Given the description of an element on the screen output the (x, y) to click on. 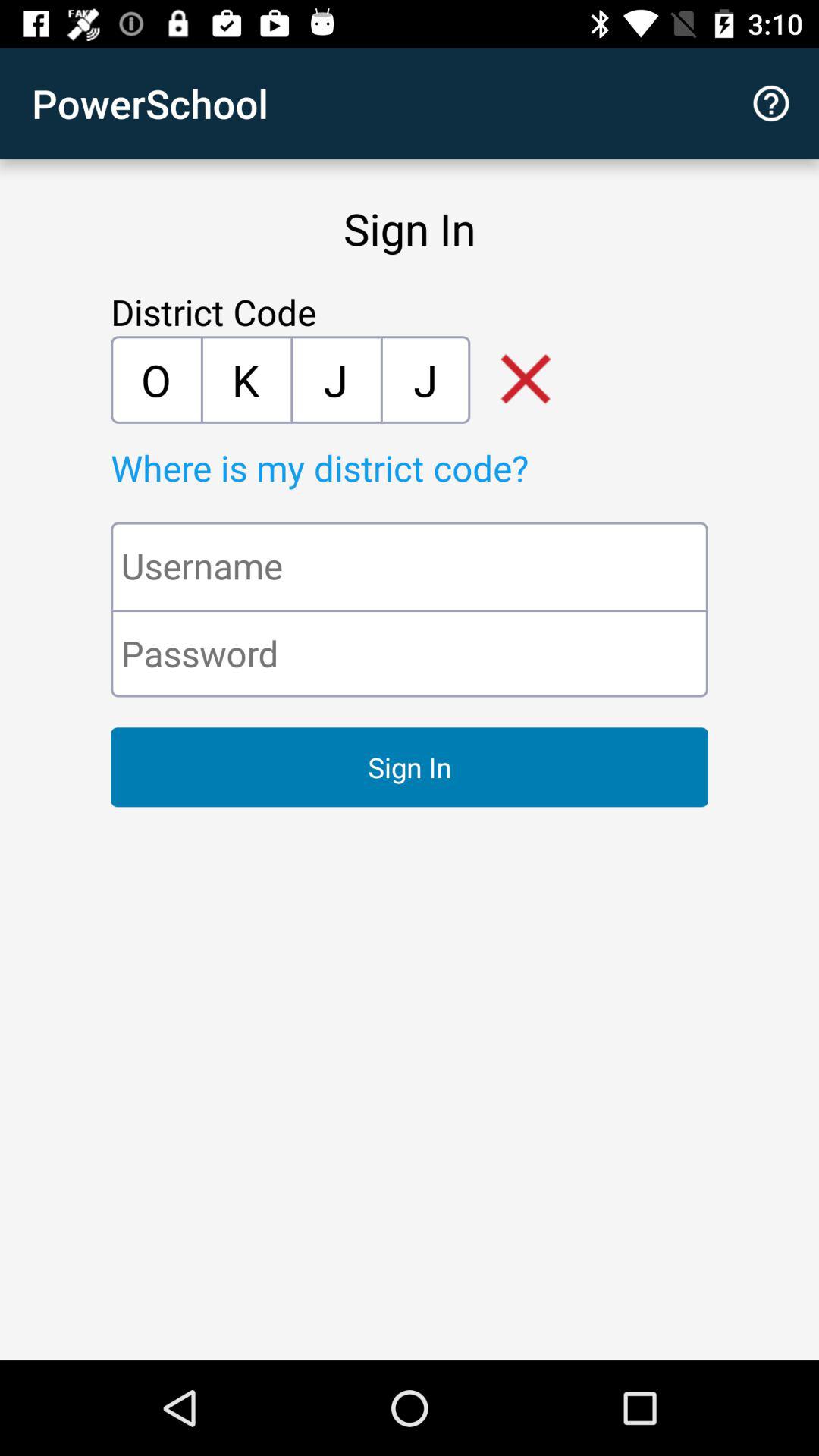
select the letter beside o (245, 379)
click on text above username (444, 468)
select the alphabet beside k (335, 379)
click on the text field username (409, 566)
select the first letter o be below the text district code (155, 379)
click on cross icon (515, 379)
